Given the description of an element on the screen output the (x, y) to click on. 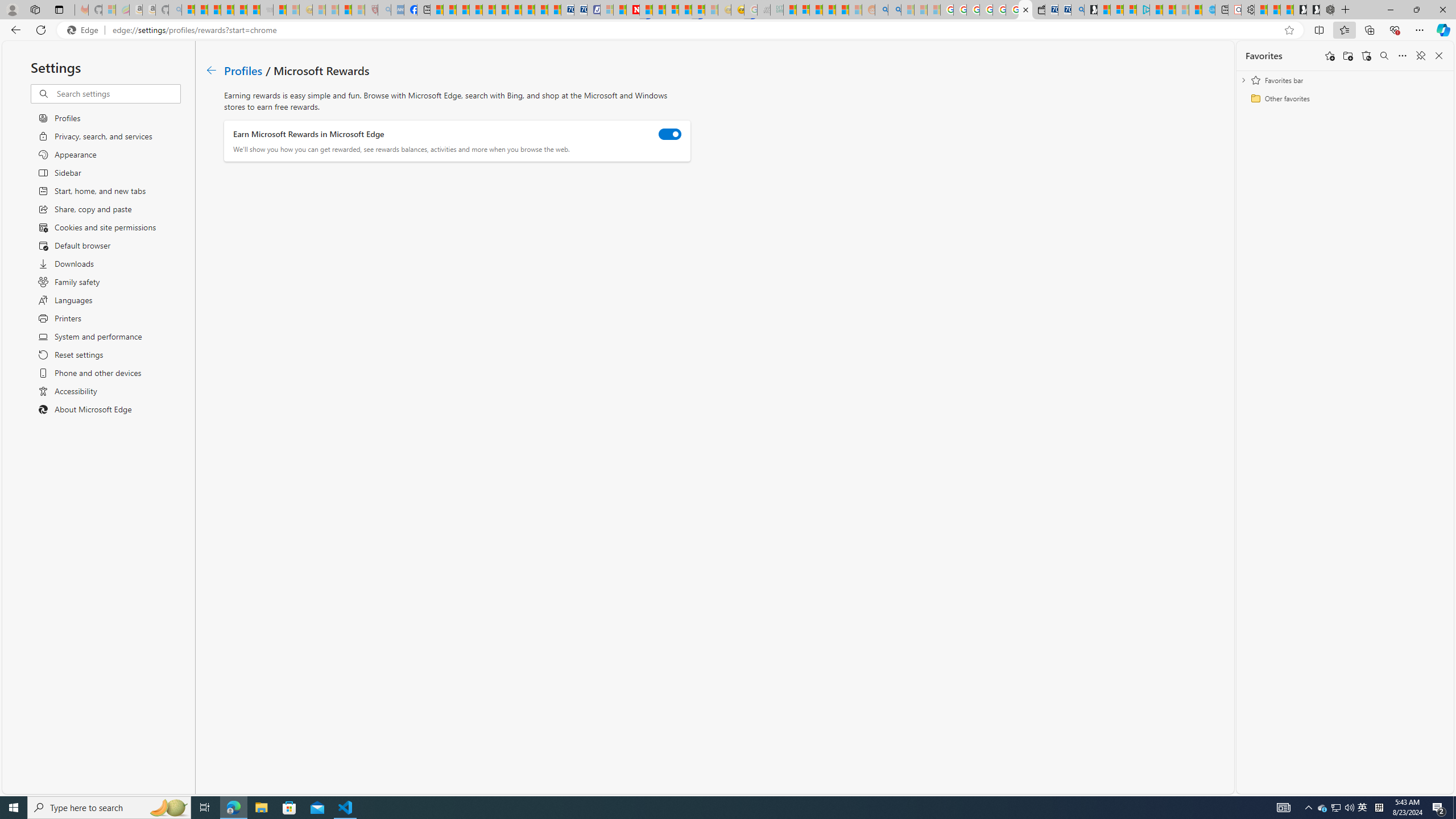
Nordace - Nordace Siena Is Not An Ordinary Backpack (1326, 9)
Bing Real Estate - Home sales and rental listings (1077, 9)
12 Popular Science Lies that Must be Corrected - Sleeping (357, 9)
